Given the description of an element on the screen output the (x, y) to click on. 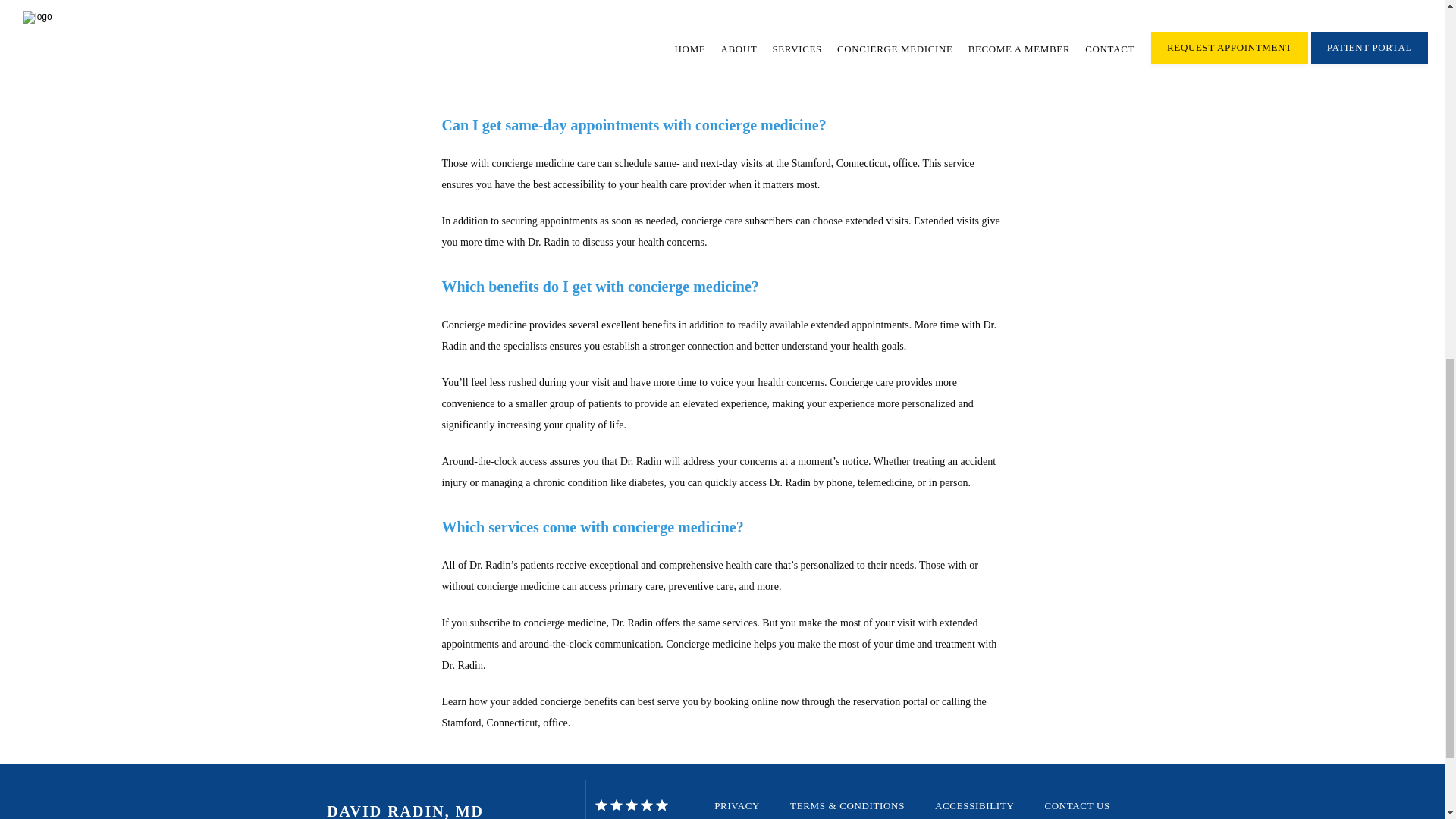
ACCESSIBILITY (973, 805)
CONTACT US (1076, 805)
PRIVACY (737, 805)
